Given the description of an element on the screen output the (x, y) to click on. 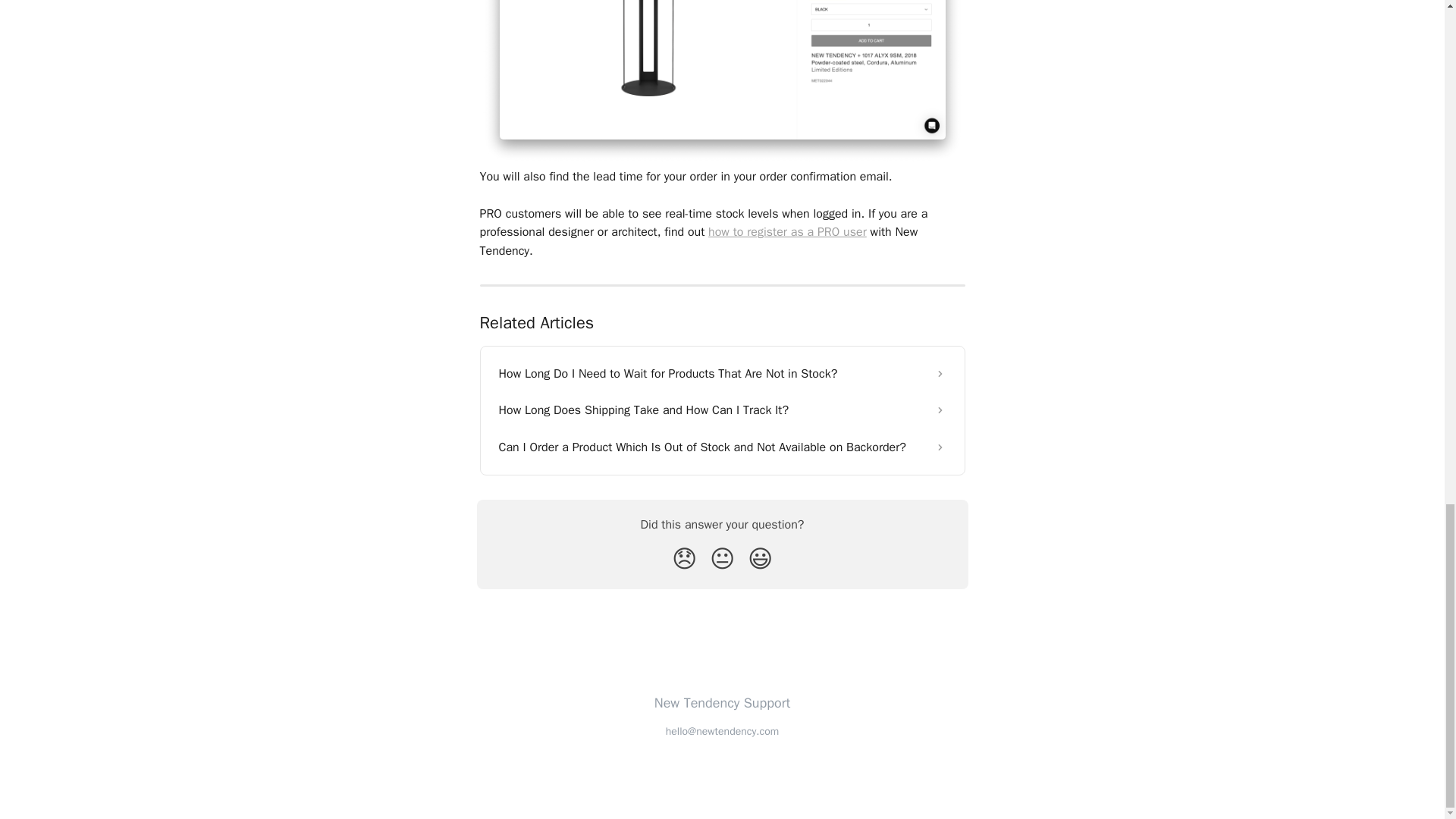
New Tendency Support (721, 702)
How Long Does Shipping Take and How Can I Track It? (722, 410)
how to register as a PRO user (786, 231)
Neutral (722, 558)
Disappointed (684, 558)
Smiley (760, 558)
